Given the description of an element on the screen output the (x, y) to click on. 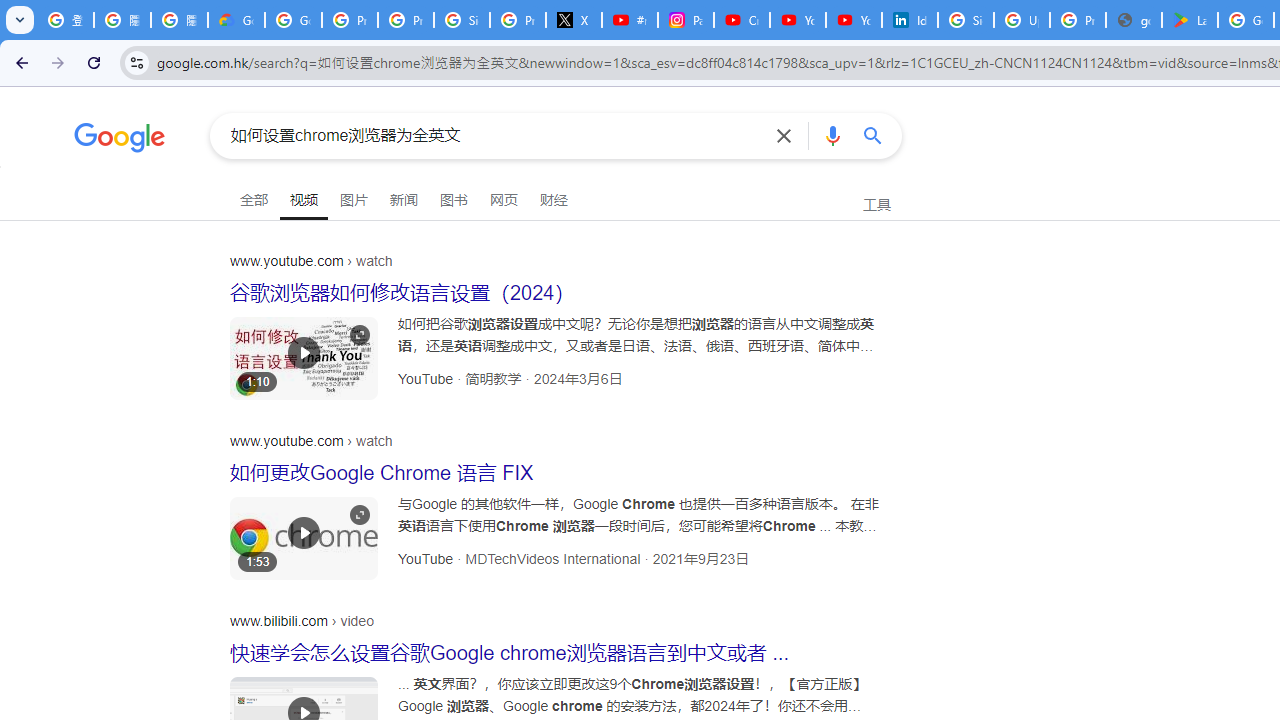
Sign in - Google Accounts (966, 20)
Privacy Help Center - Policies Help (405, 20)
